Given the description of an element on the screen output the (x, y) to click on. 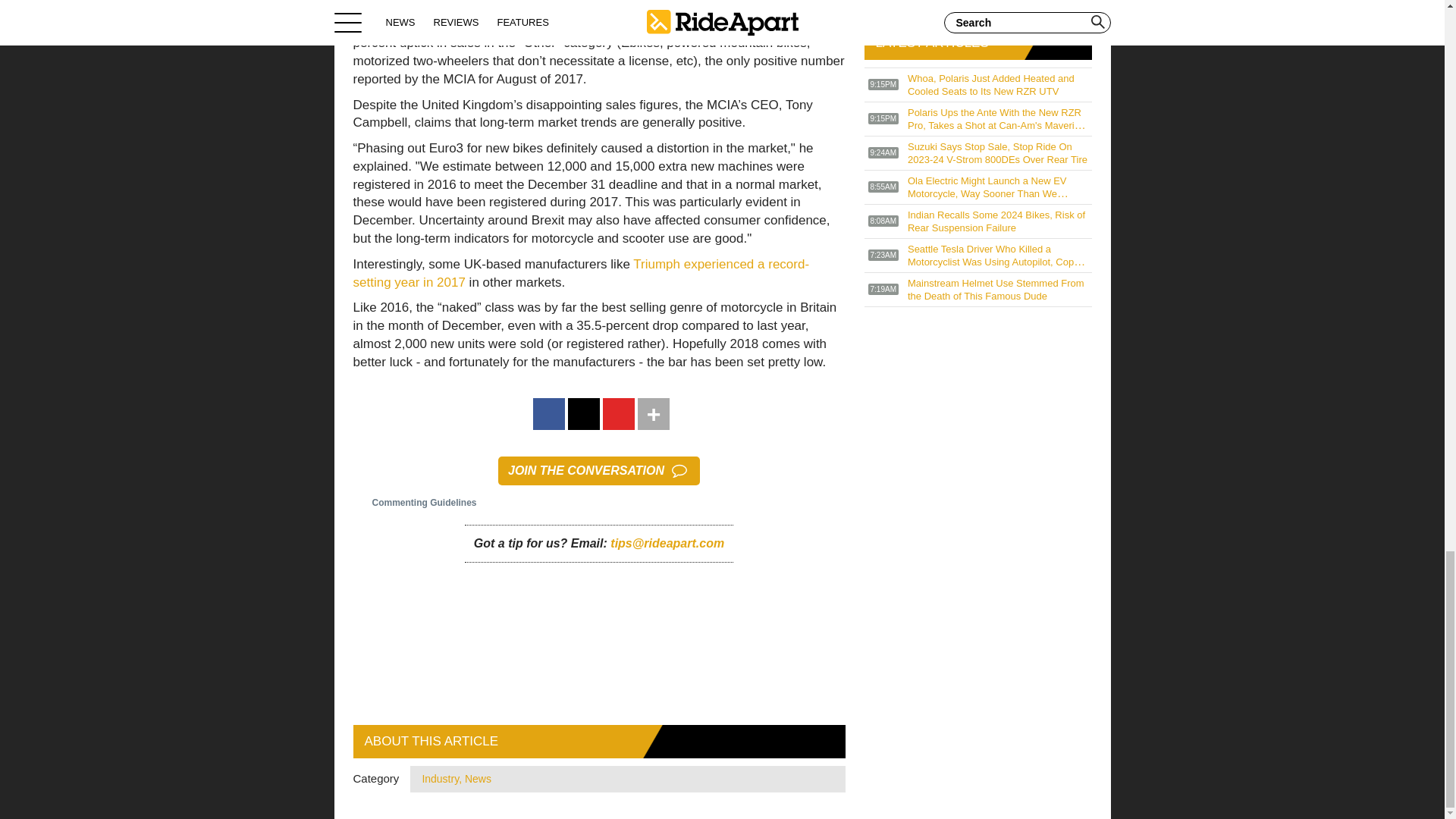
Commenting Guidelines (415, 502)
Triumph experienced a record-setting year in 2017 (581, 273)
JOIN THE CONVERSATION (598, 470)
